Given the description of an element on the screen output the (x, y) to click on. 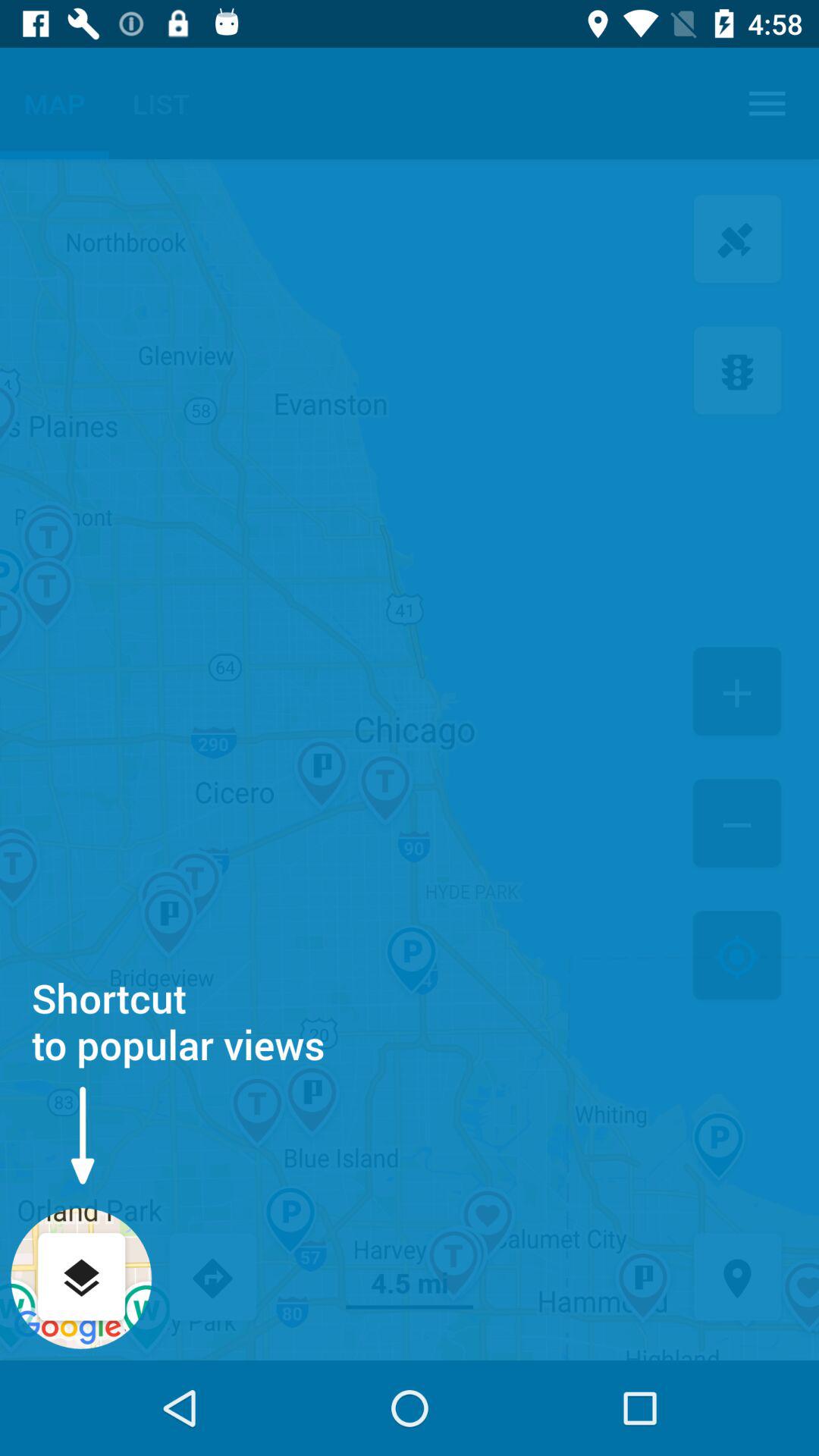
satilite (737, 240)
